Given the description of an element on the screen output the (x, y) to click on. 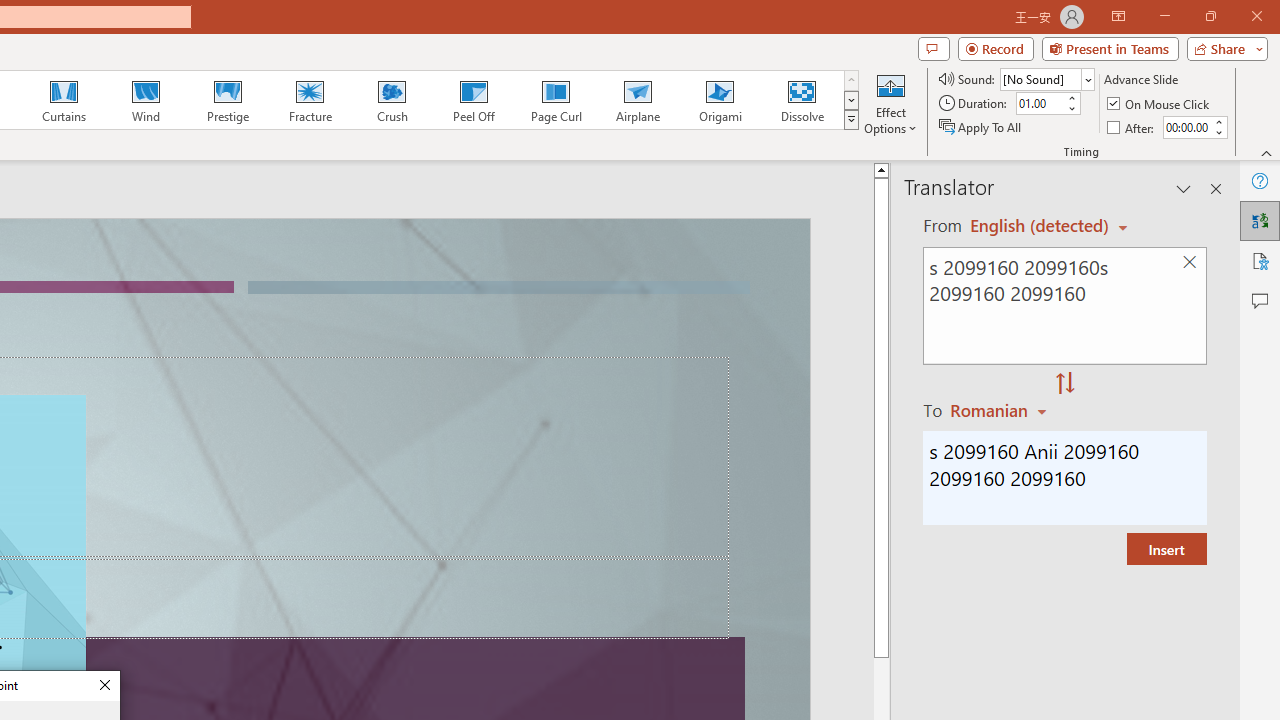
Dissolve (802, 100)
Crush (391, 100)
